Given the description of an element on the screen output the (x, y) to click on. 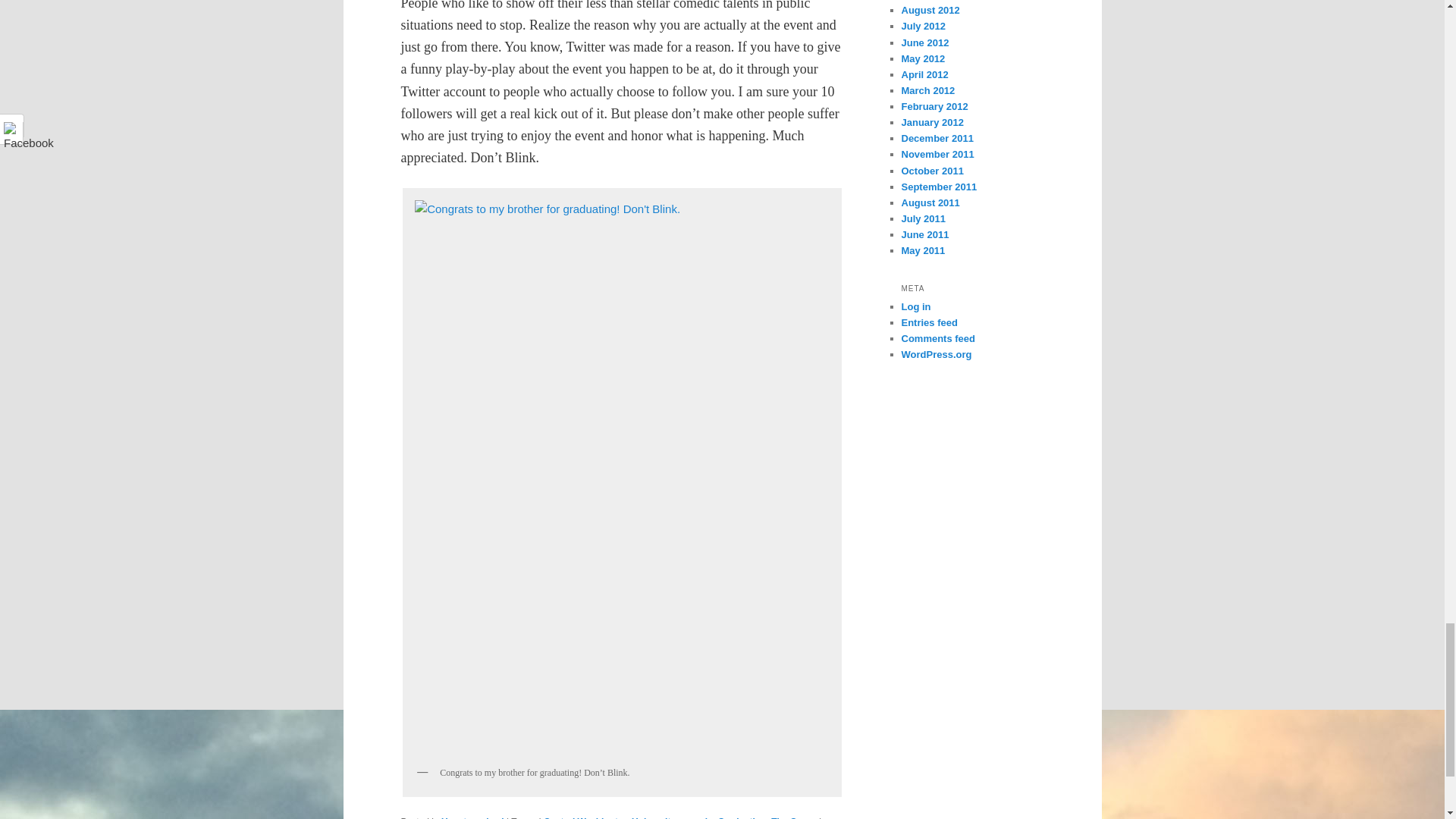
Uncategorized (472, 817)
Central Washington University (609, 817)
crowds (697, 817)
The Grove (793, 817)
Graduation (741, 817)
